Given the description of an element on the screen output the (x, y) to click on. 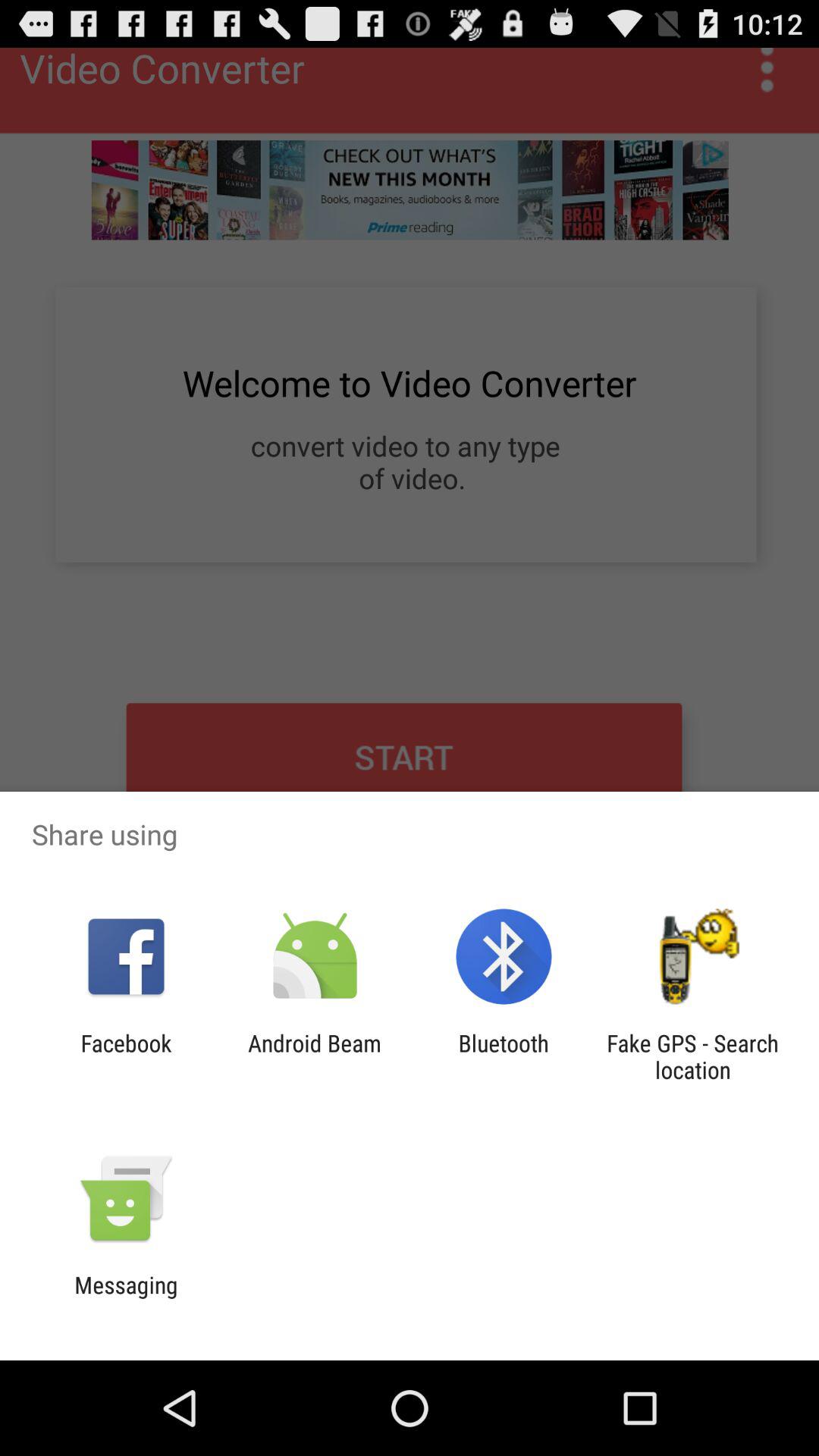
click icon next to android beam item (503, 1056)
